Given the description of an element on the screen output the (x, y) to click on. 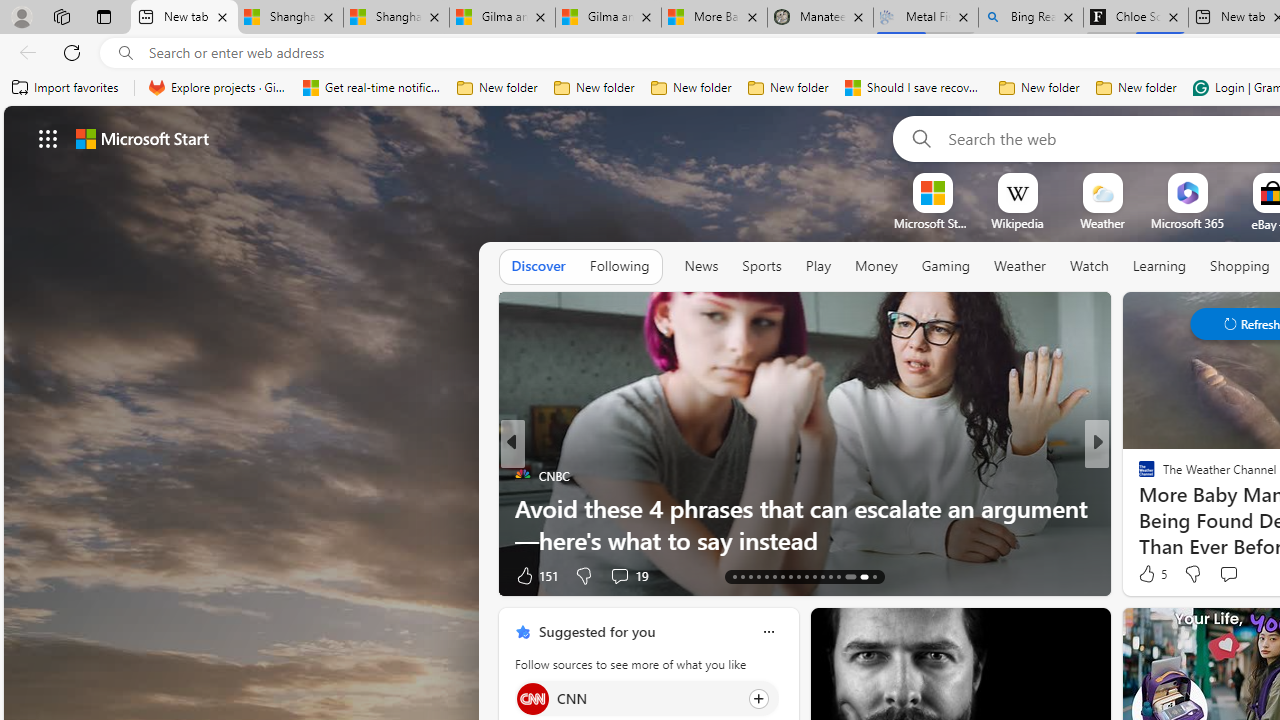
View comments 58 Comment (11, 575)
AutomationID: tab-25 (829, 576)
Money (876, 267)
Bing Real Estate - Home sales and rental listings (1030, 17)
Learning (1159, 267)
AutomationID: tab-18 (774, 576)
AutomationID: tab-13 (733, 576)
Manatee Mortality Statistics | FWC (820, 17)
Import favorites (65, 88)
Suggested for you (596, 631)
Shopping (1240, 265)
